Given the description of an element on the screen output the (x, y) to click on. 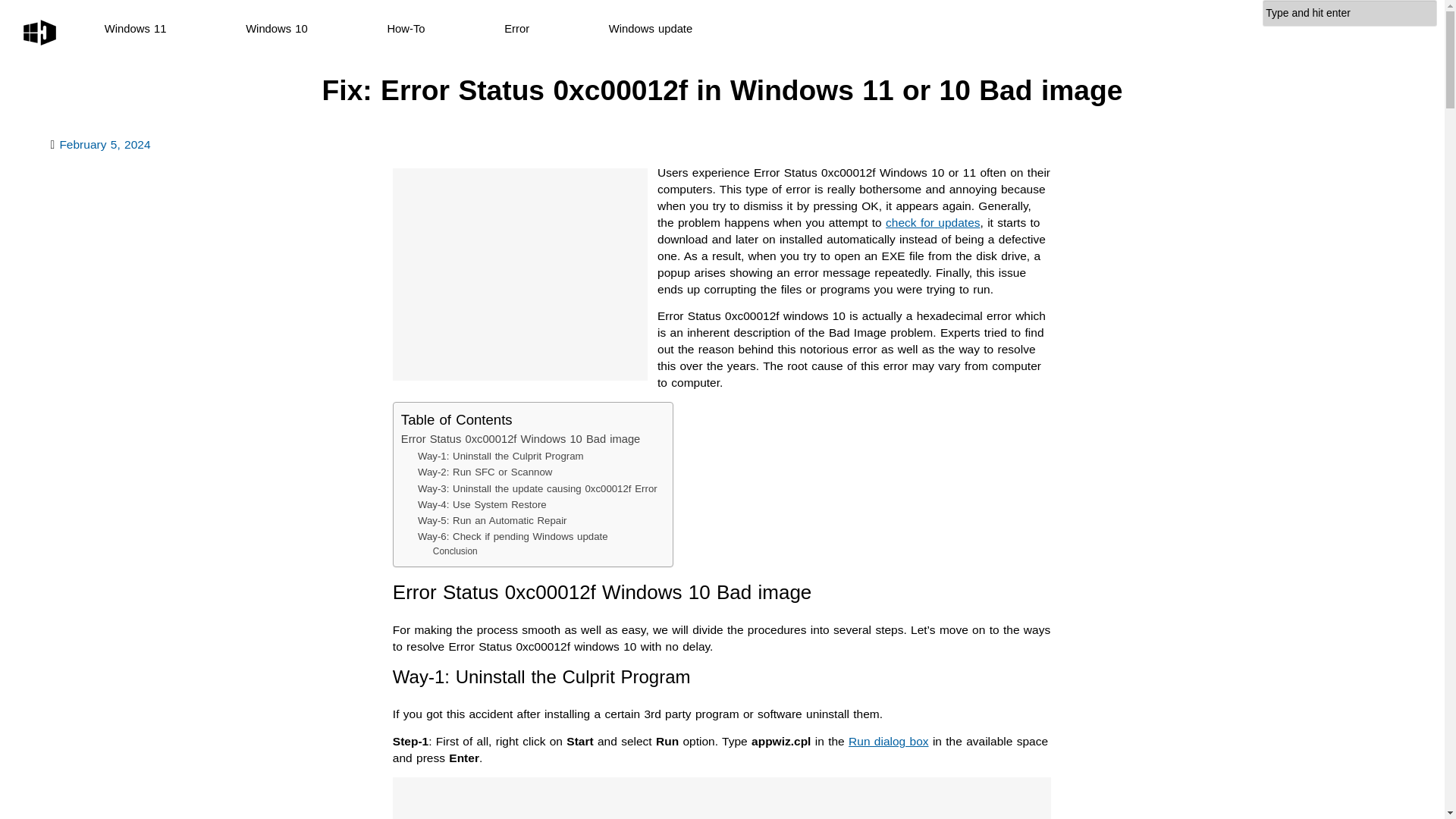
Way-4: Use System Restore (482, 504)
Way-5: Run an Automatic Repair (492, 520)
Way-6: Check if pending Windows update (512, 536)
Windows update (650, 28)
Advertisement (520, 274)
Way-4: Use System Restore (482, 504)
Error Status 0xc00012f Windows 10 Bad image (520, 439)
Way-1: Uninstall the Culprit Program (500, 455)
Way-2: Run SFC or Scannow (484, 471)
How-To (406, 28)
